Given the description of an element on the screen output the (x, y) to click on. 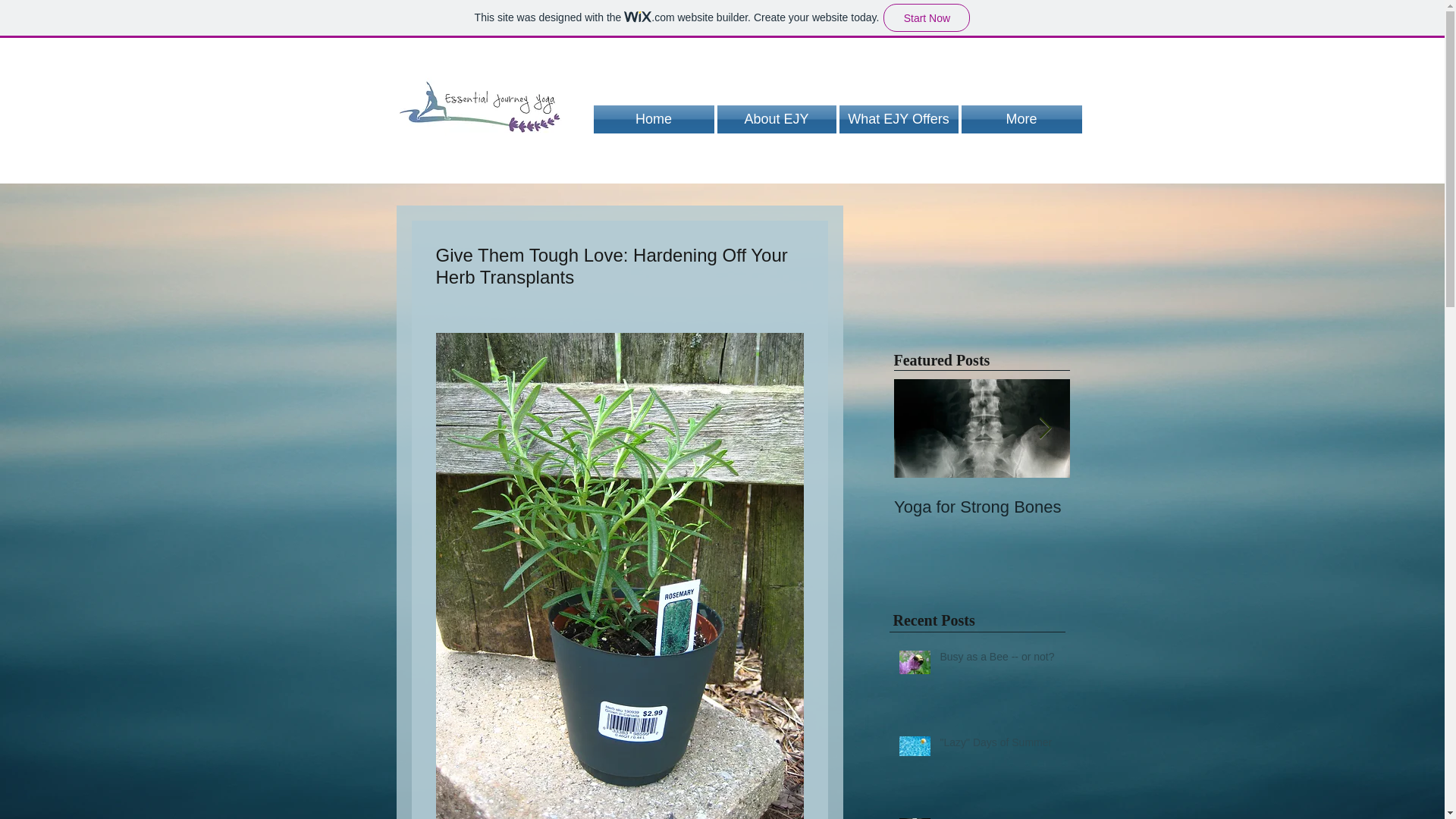
About EJY (777, 119)
Yoga for Strong Bones (998, 818)
Home (653, 119)
"Lazy" Days of Summer (998, 745)
Busy as a Bee -- or not? (998, 659)
Yoga for Strong Bones (980, 506)
Choosing to Find Joy in the Snow (1156, 517)
What EJY Offers (898, 119)
